Given the description of an element on the screen output the (x, y) to click on. 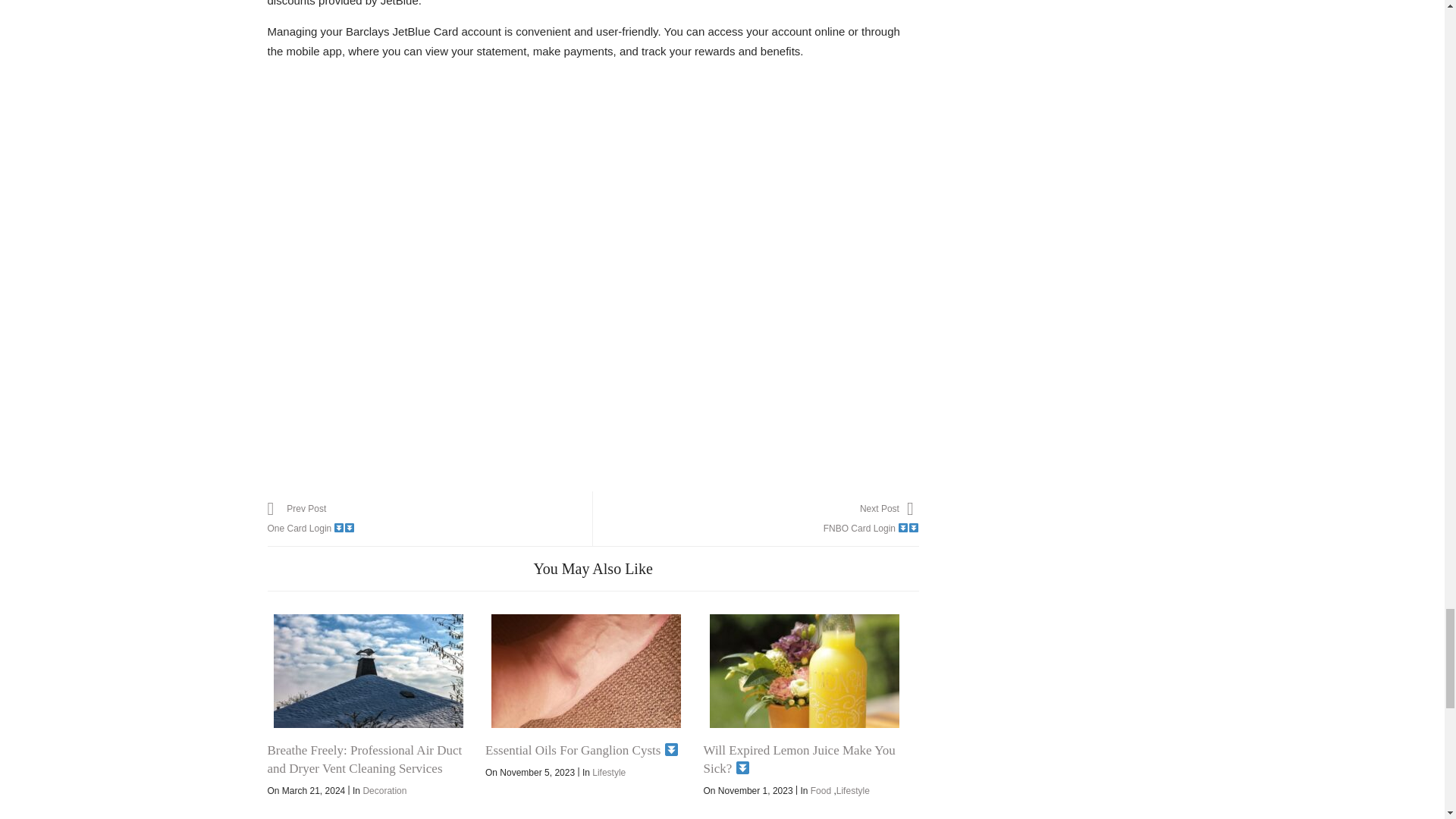
Lifestyle (429, 518)
Will Expired Lemon Juice Make You Sick? (852, 790)
Decoration (799, 758)
Food (384, 790)
Lifestyle (820, 790)
Essential Oils For Ganglion Cysts (609, 772)
